Given the description of an element on the screen output the (x, y) to click on. 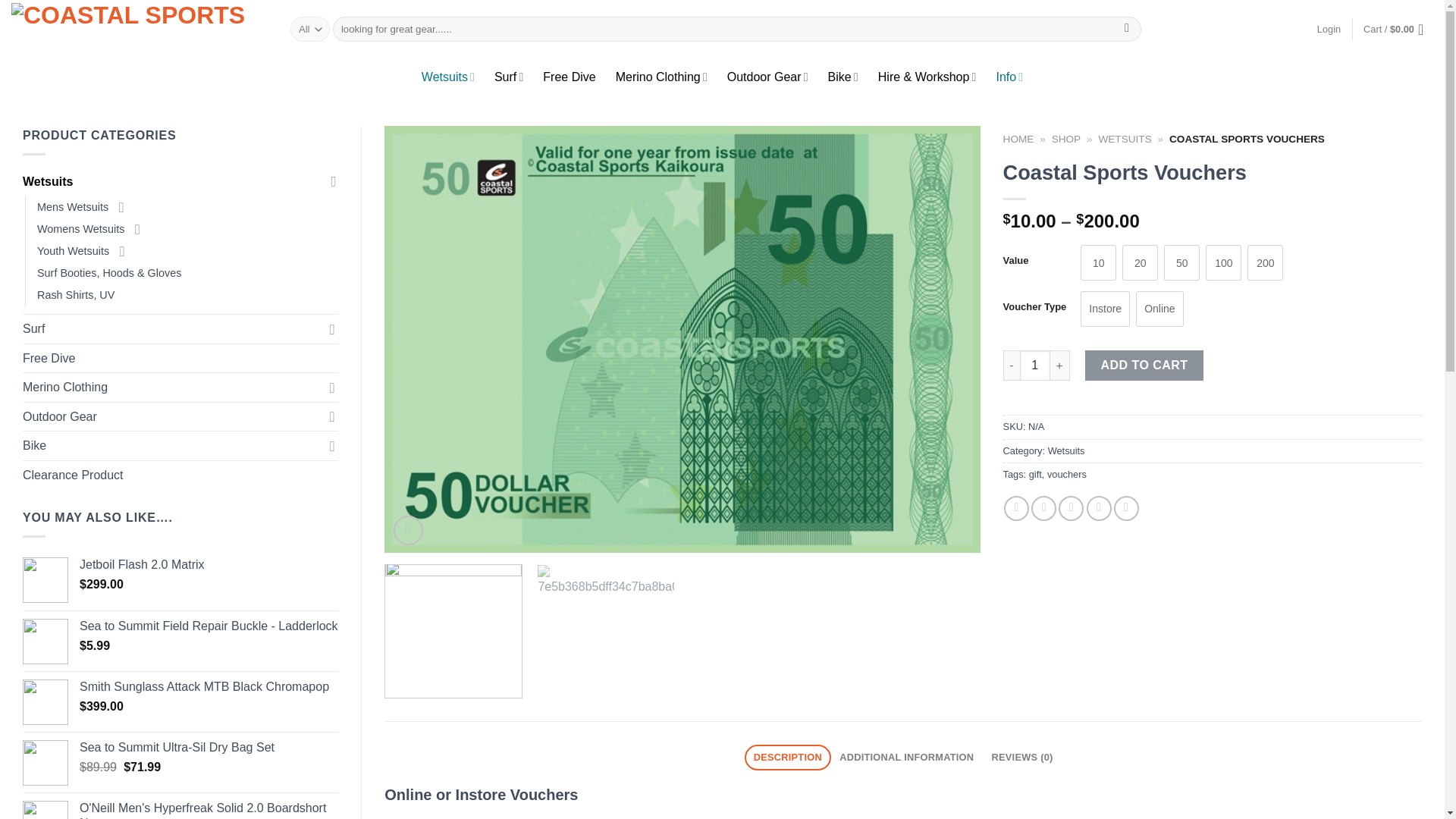
Coastal Sports Vouchers 3 (605, 633)
Search (1127, 29)
1 (1034, 365)
Zoom (408, 530)
Login (1328, 29)
Login (1328, 29)
Cart (1397, 28)
Wetsuits (448, 76)
